Given the description of an element on the screen output the (x, y) to click on. 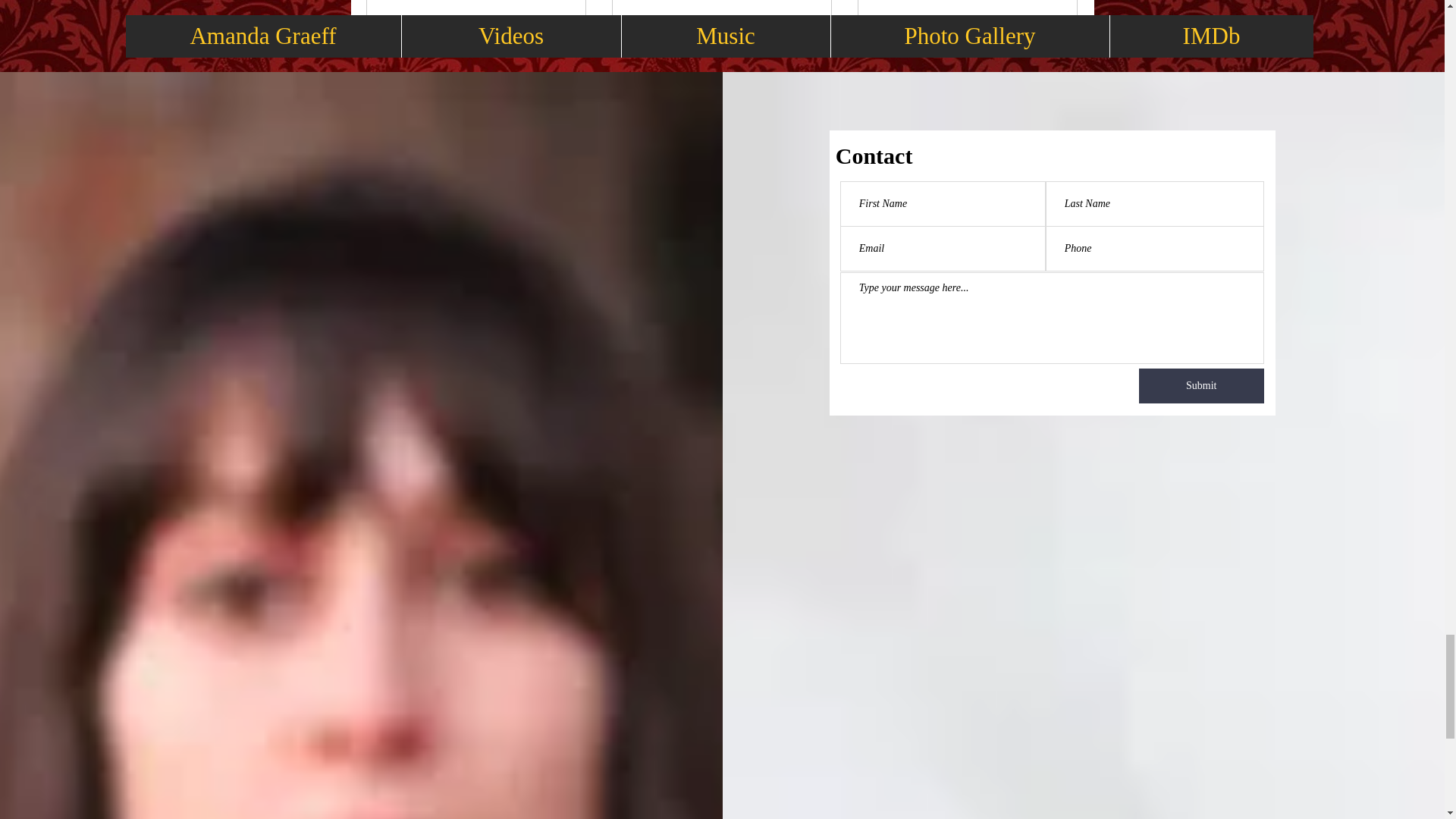
Submit (1200, 385)
